Given the description of an element on the screen output the (x, y) to click on. 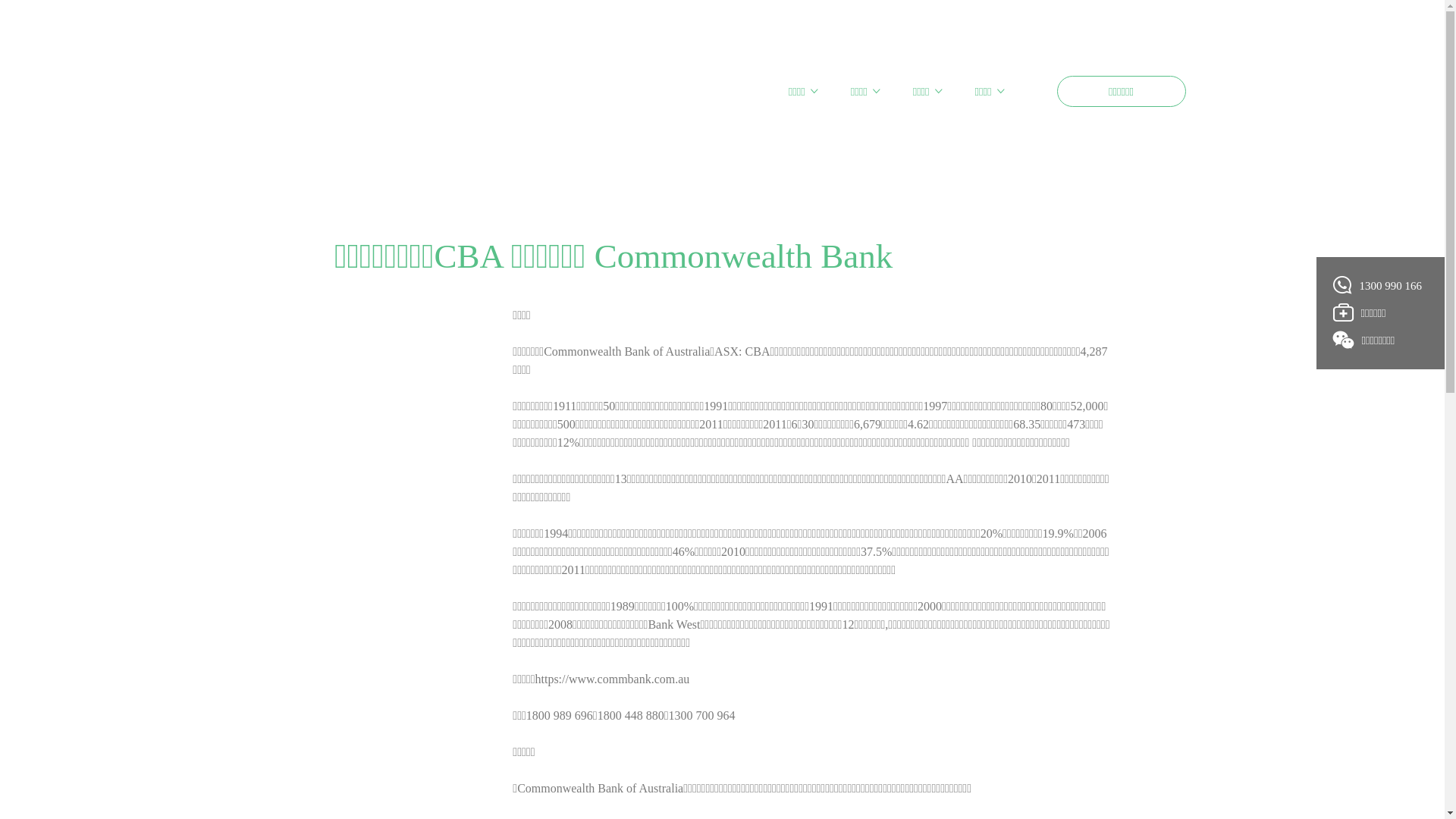
1300 990 166 Element type: text (1377, 285)
